Given the description of an element on the screen output the (x, y) to click on. 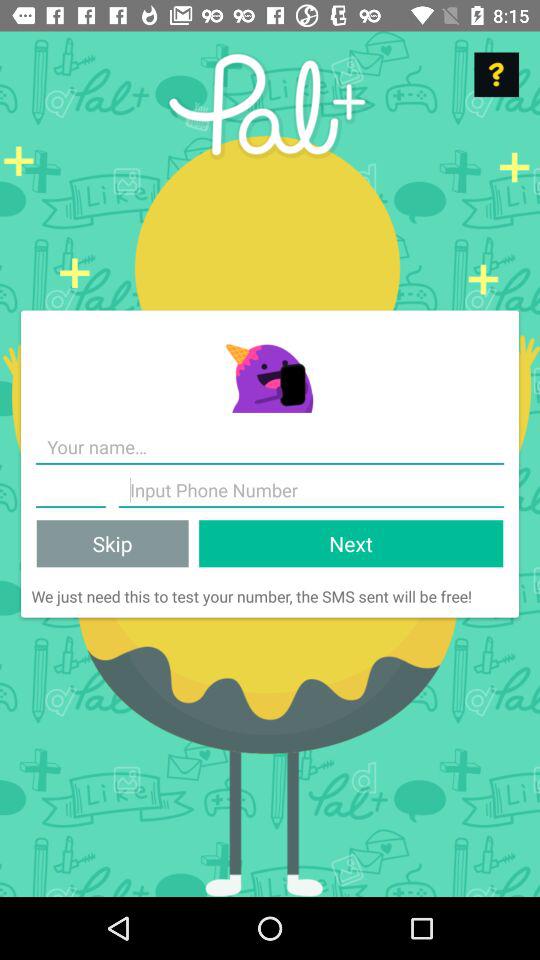
input phone number (311, 490)
